Given the description of an element on the screen output the (x, y) to click on. 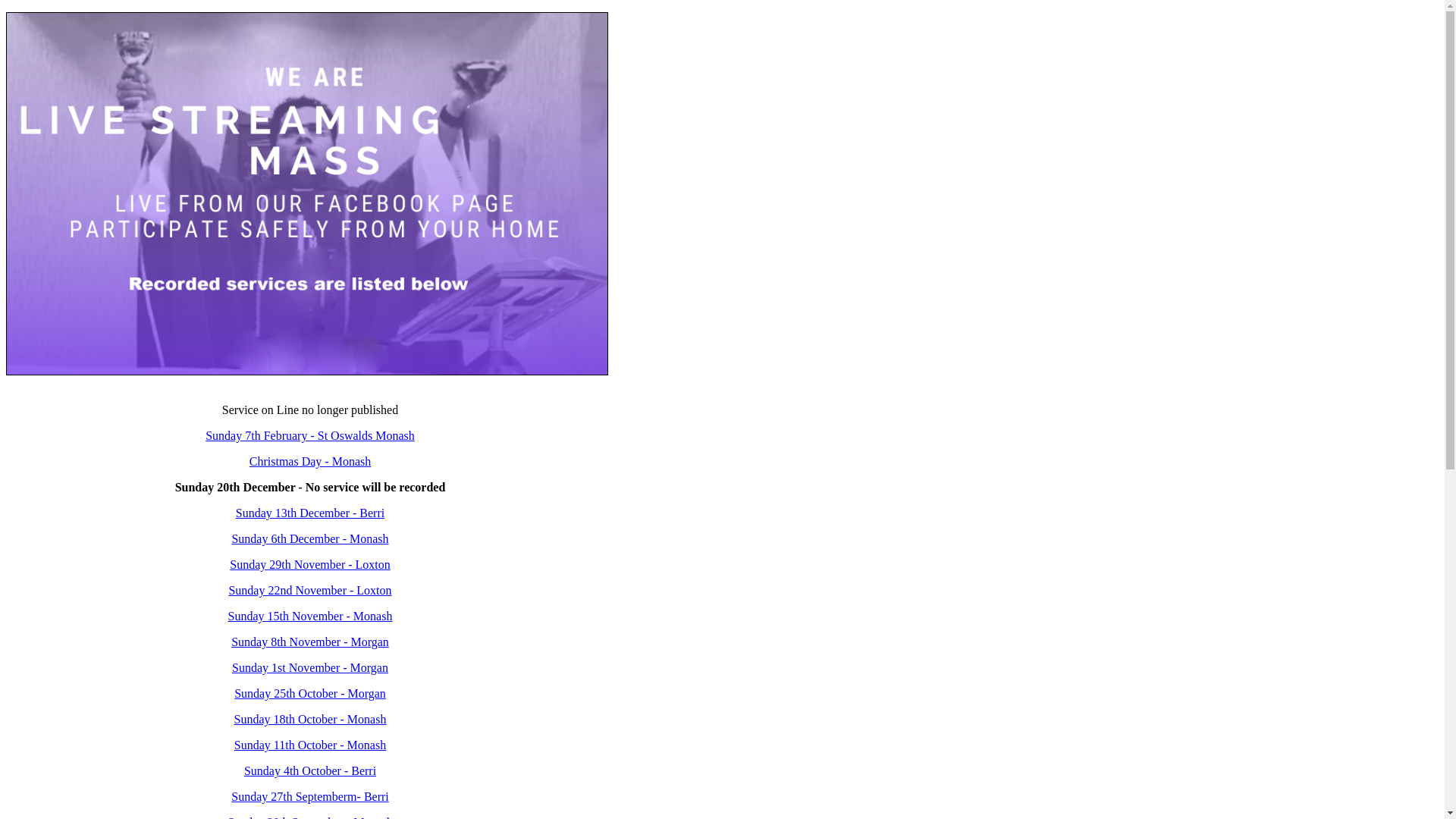
Sunday 11th October - Monash Element type: text (309, 744)
Sunday 1st November - Morgan Element type: text (310, 667)
Sunday 6th December - Monash Element type: text (309, 538)
Sunday 22nd November - Loxton Element type: text (309, 589)
Sunday 13th December - Berri Element type: text (309, 512)
Sunday 18th October - Monash Element type: text (310, 718)
Christmas Day - Monash Element type: text (309, 461)
Sunday 15th November - Monash Element type: text (310, 615)
Sunday 8th November - Morgan Element type: text (310, 641)
Sunday 29th November - Loxton Element type: text (309, 564)
Sunday 27th Septemberm- Berri Element type: text (310, 796)
Sunday 25th October - Morgan Element type: text (309, 693)
Sunday 4th October - Berri Element type: text (310, 770)
Sunday 7th February - St Oswalds Monash Element type: text (309, 435)
